Given the description of an element on the screen output the (x, y) to click on. 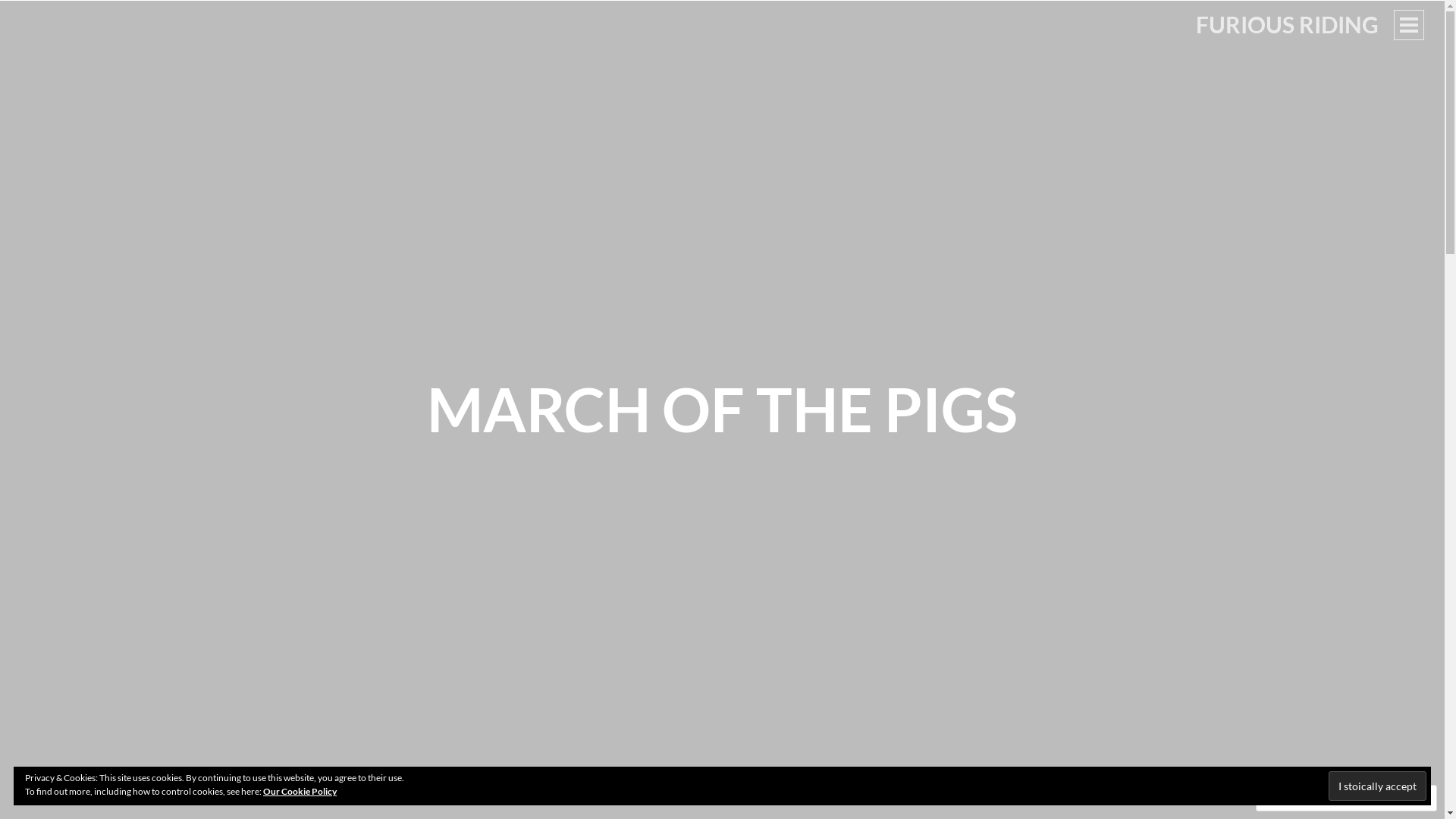
Comment Element type: text (1297, 797)
Our Cookie Policy Element type: text (299, 791)
Search Element type: text (38, 18)
I stoically accept Element type: text (1377, 785)
FURIOUS RIDING Element type: text (1286, 23)
Follow Element type: text (1372, 797)
